Given the description of an element on the screen output the (x, y) to click on. 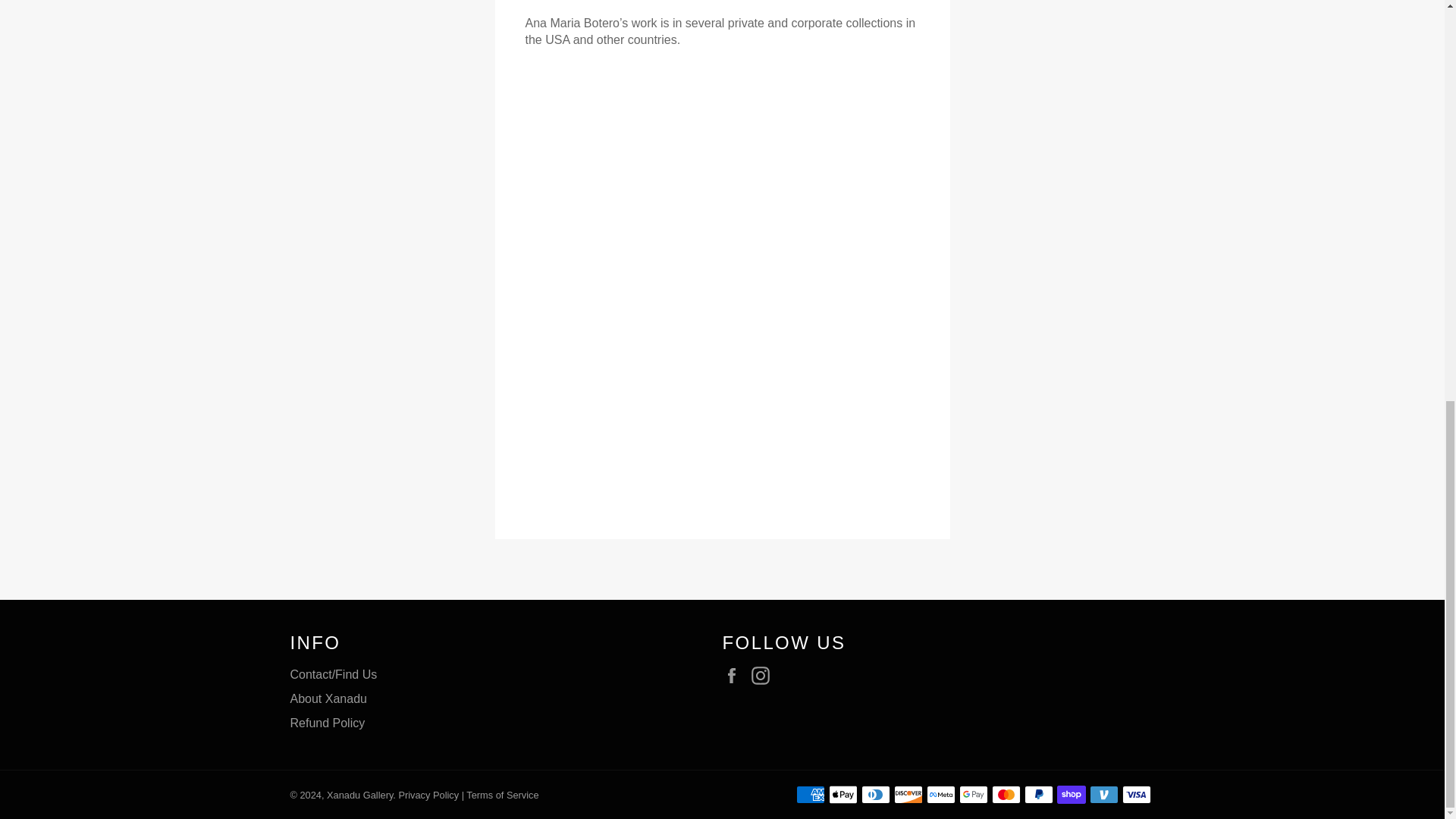
Instagram (764, 674)
Facebook (735, 674)
Xanadu Gallery on Instagram (764, 674)
Refund Policy (327, 721)
Xanadu Gallery on Facebook (735, 674)
About Xanadu (327, 697)
Privacy Policy (427, 794)
Xanadu Gallery (359, 794)
